Given the description of an element on the screen output the (x, y) to click on. 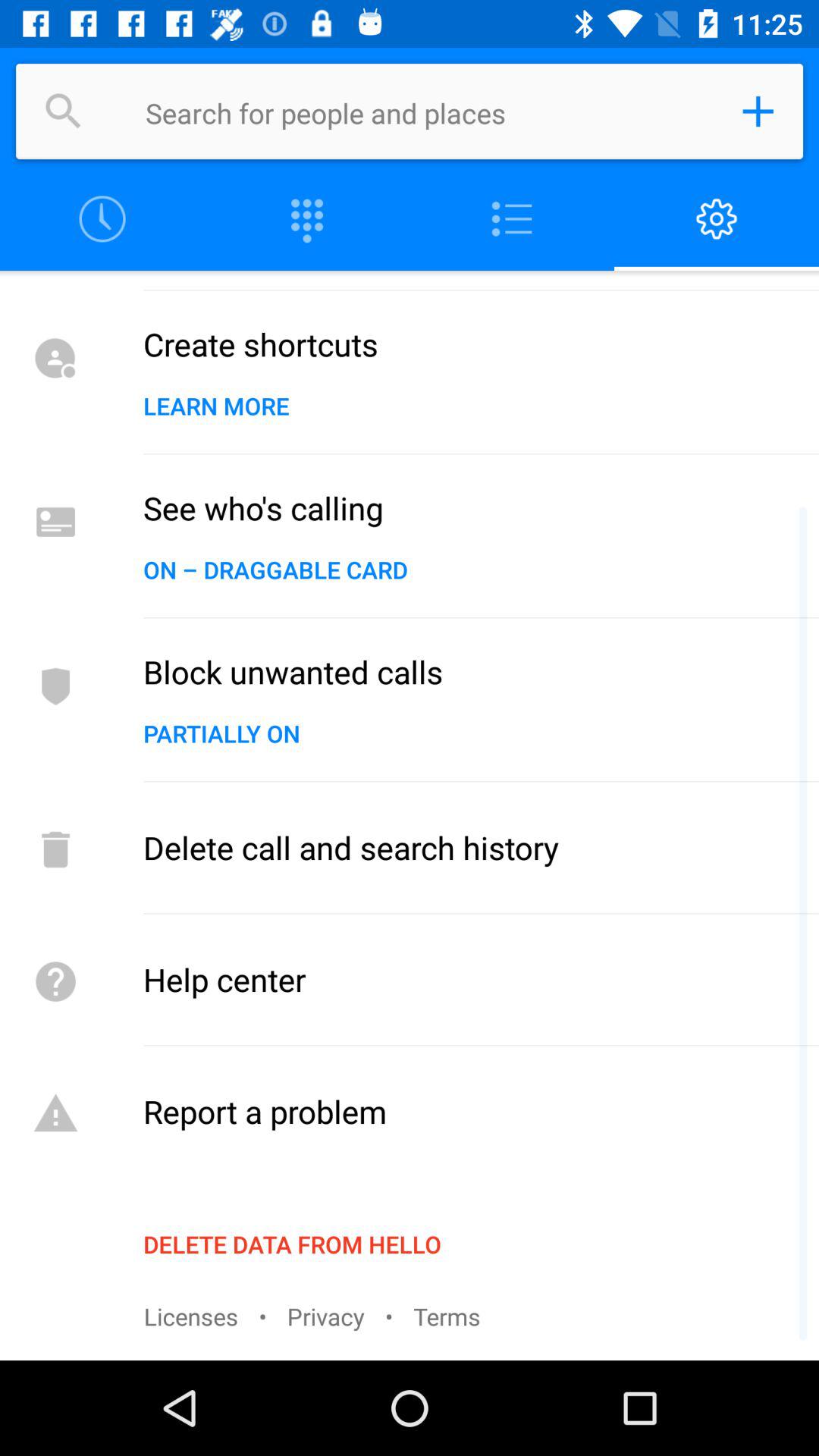
press the item below the delete data from (446, 1316)
